Given the description of an element on the screen output the (x, y) to click on. 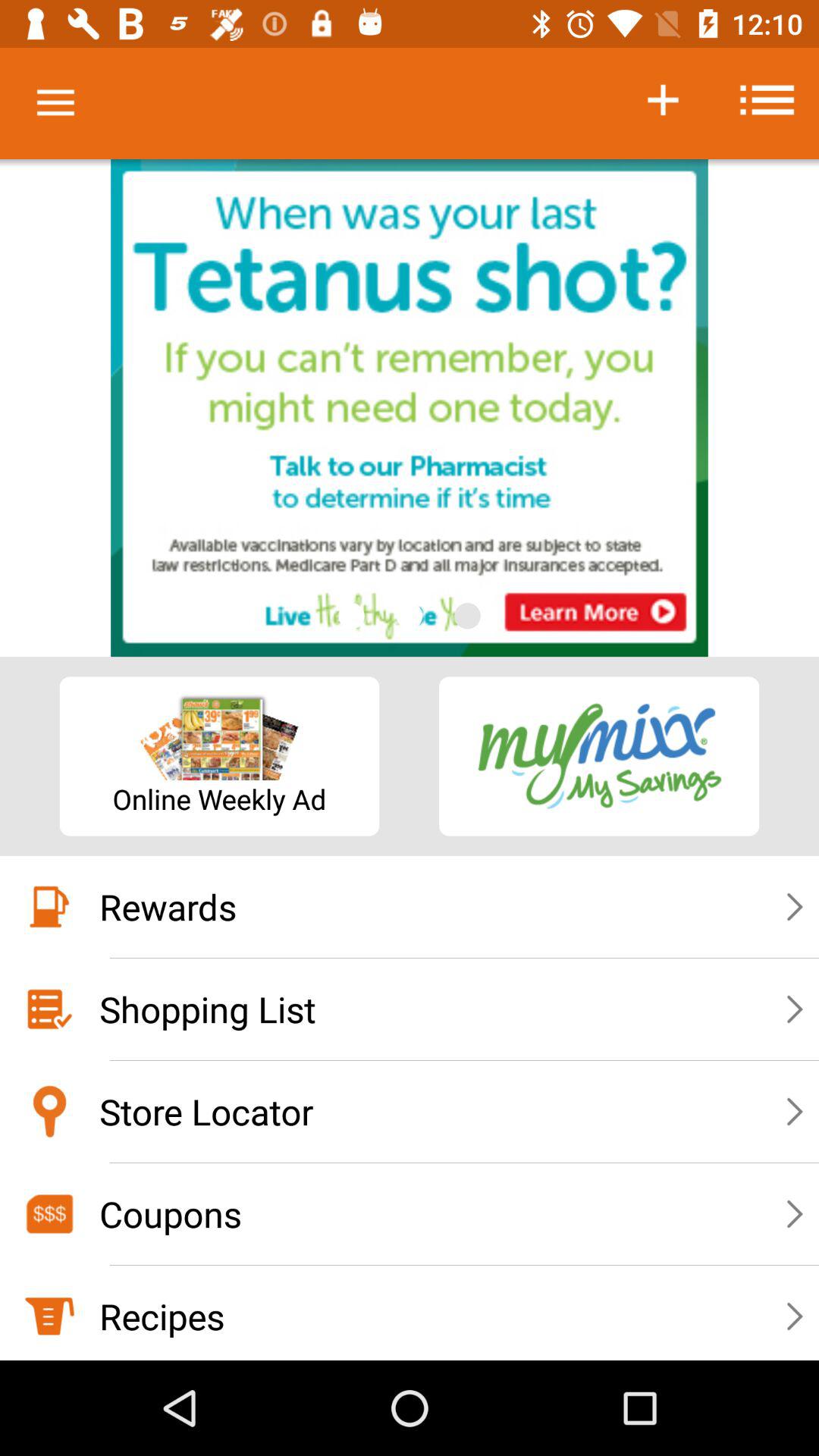
access advertisement (409, 407)
